Given the description of an element on the screen output the (x, y) to click on. 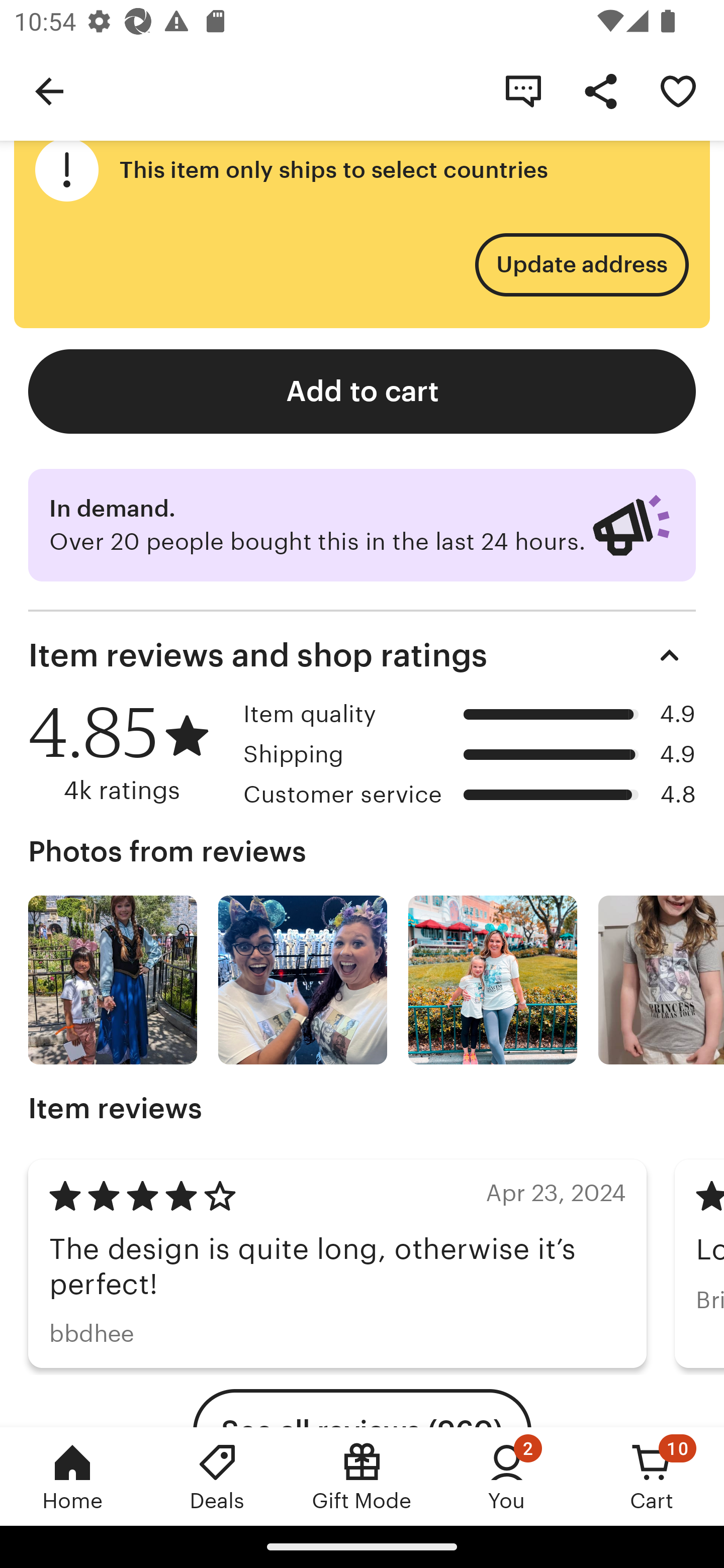
Navigate up (49, 90)
Contact shop (523, 90)
Share (600, 90)
Update address (581, 264)
Add to cart (361, 391)
Item reviews and shop ratings (362, 654)
4.85 4k ratings (128, 752)
Photo from review (112, 979)
Photo from review (302, 979)
Photo from review (492, 979)
Photo from review (661, 979)
Deals (216, 1475)
Gift Mode (361, 1475)
You, 2 new notifications You (506, 1475)
Cart, 10 new notifications Cart (651, 1475)
